Given the description of an element on the screen output the (x, y) to click on. 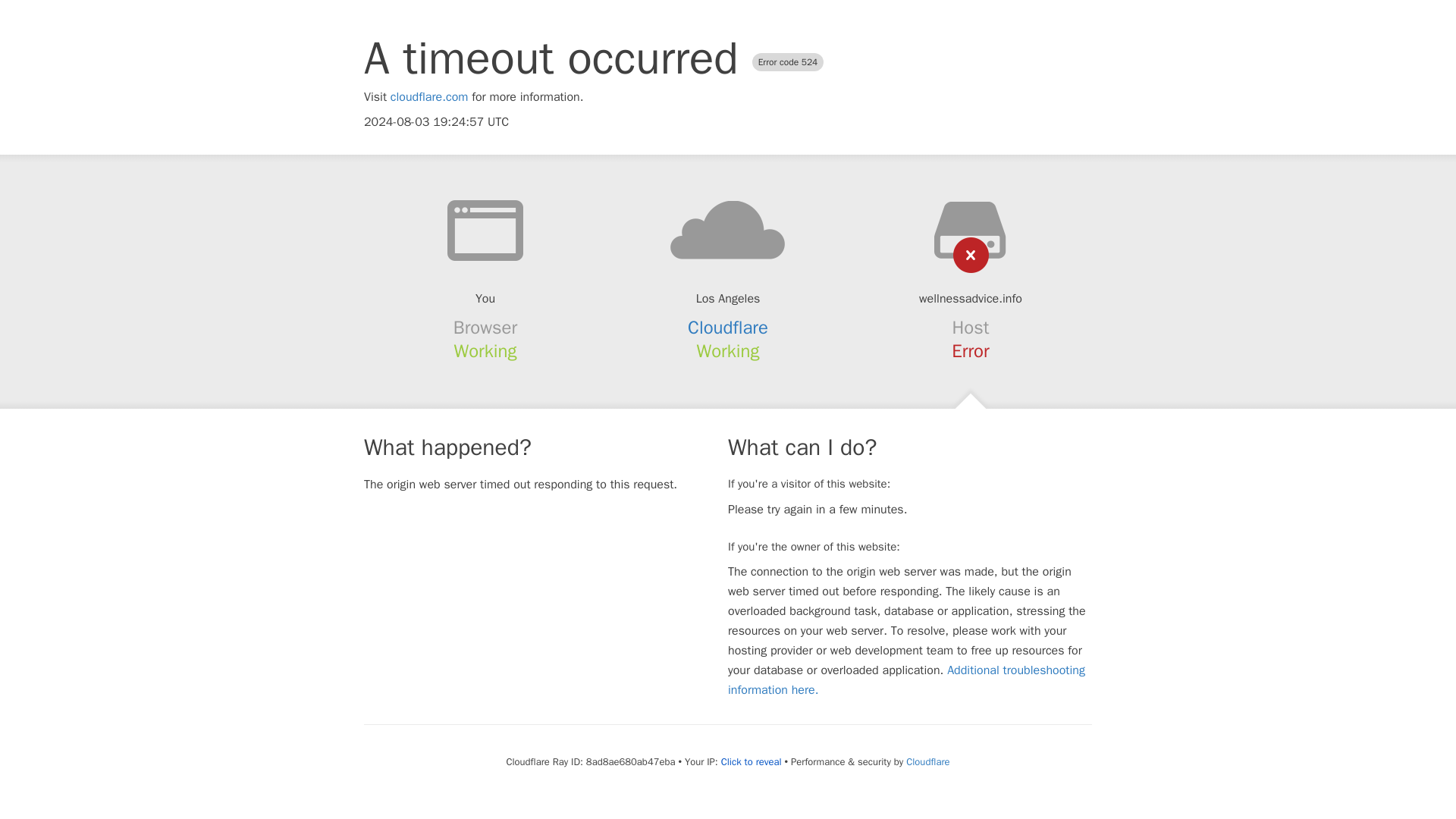
Click to reveal (750, 762)
Cloudflare (727, 327)
Cloudflare (927, 761)
Additional troubleshooting information here. (906, 679)
cloudflare.com (429, 96)
